Given the description of an element on the screen output the (x, y) to click on. 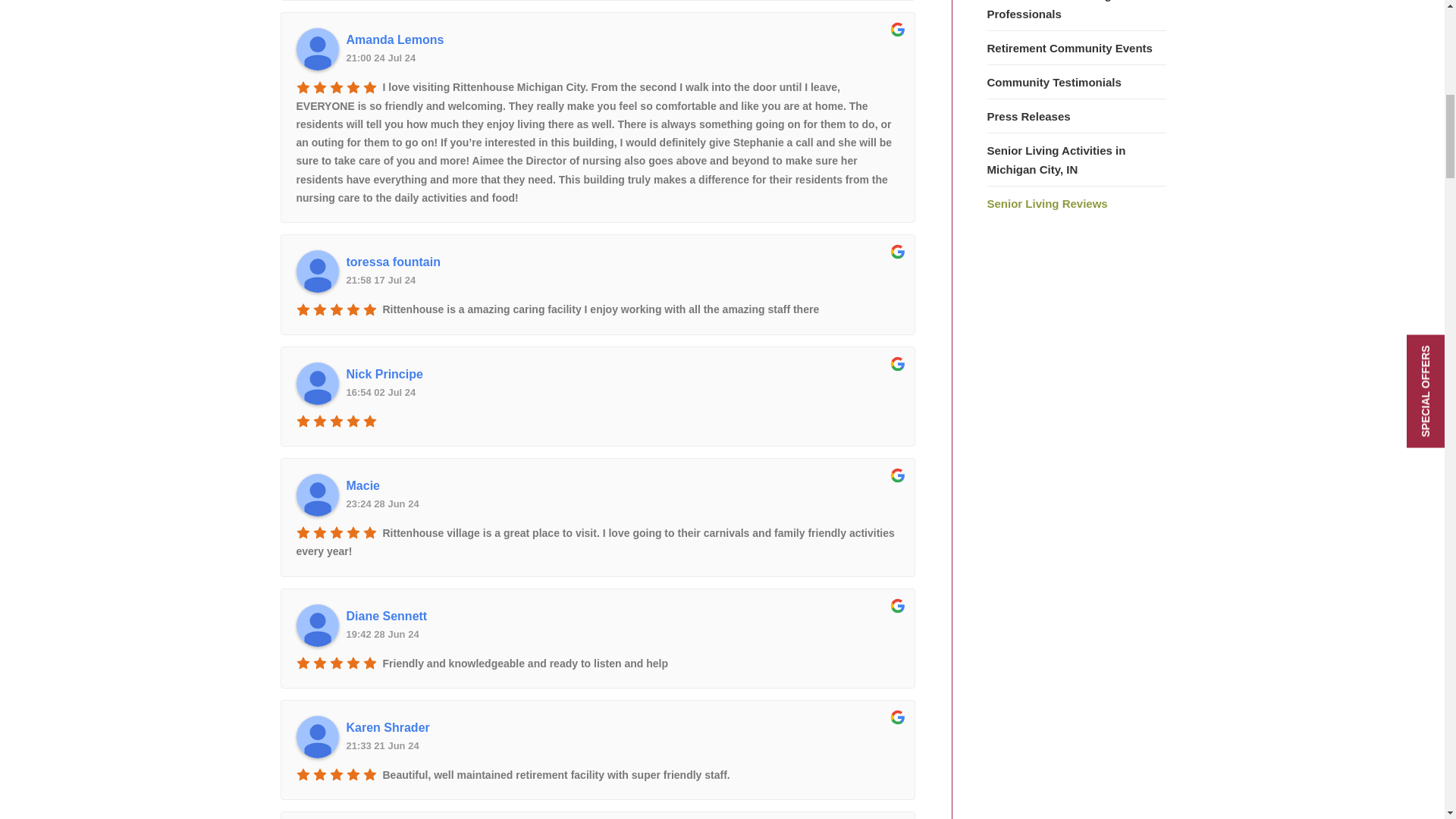
Amanda Lemons (316, 48)
Amanda Lemons (622, 40)
Macie (316, 495)
toressa fountain (316, 271)
toressa fountain (622, 262)
Nick Principe (622, 374)
Nick Principe (316, 383)
